Given the description of an element on the screen output the (x, y) to click on. 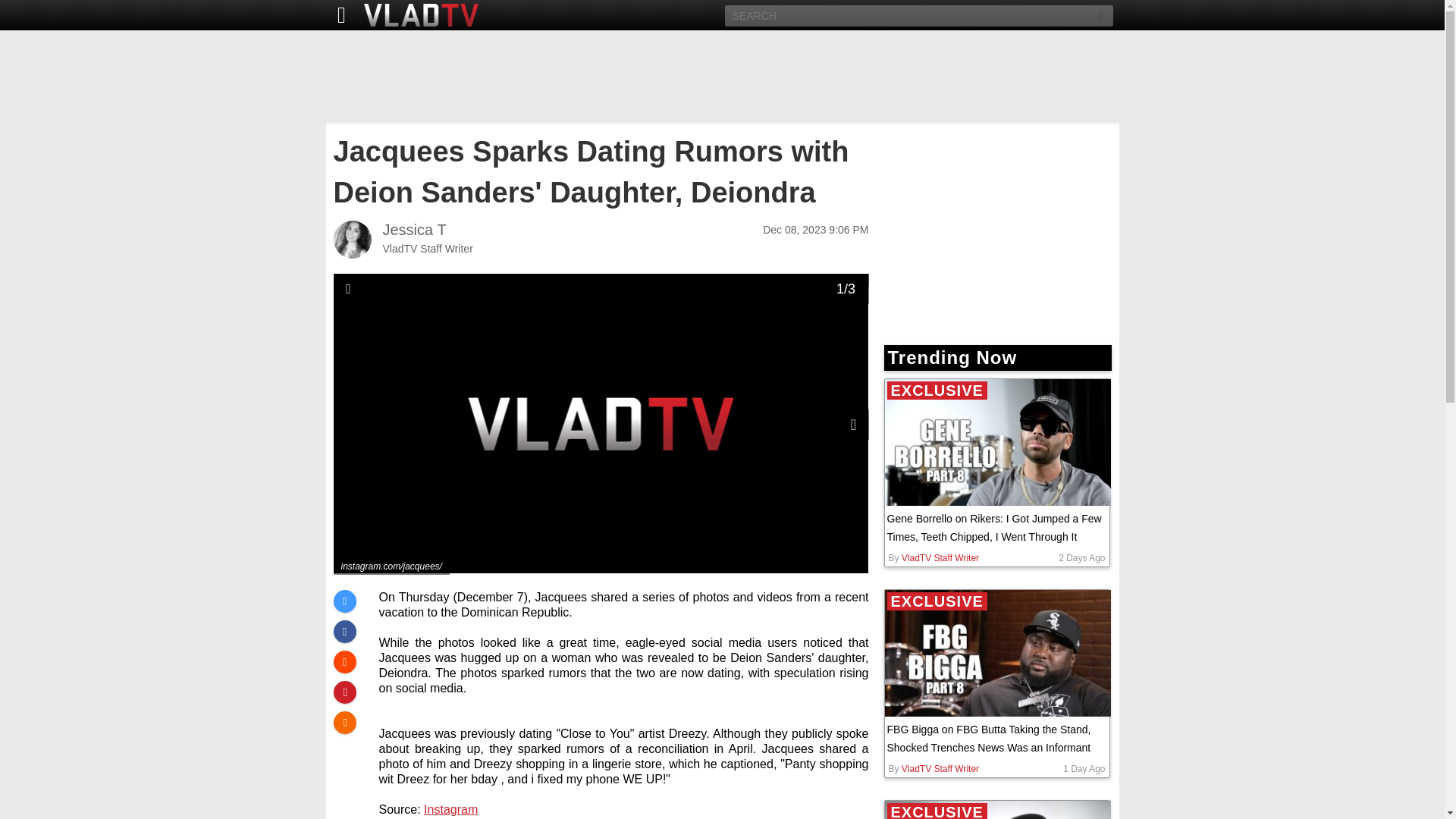
Icon: Post To Twitter (344, 600)
Back To Homepage (337, 15)
Icon: Post To Reddit (344, 661)
Icon: Post To Pinterest (344, 691)
Instagram (450, 809)
Icon: Post To Facebook (344, 630)
Icon: Email Link To Article (344, 722)
Search Articles (1101, 14)
